Given the description of an element on the screen output the (x, y) to click on. 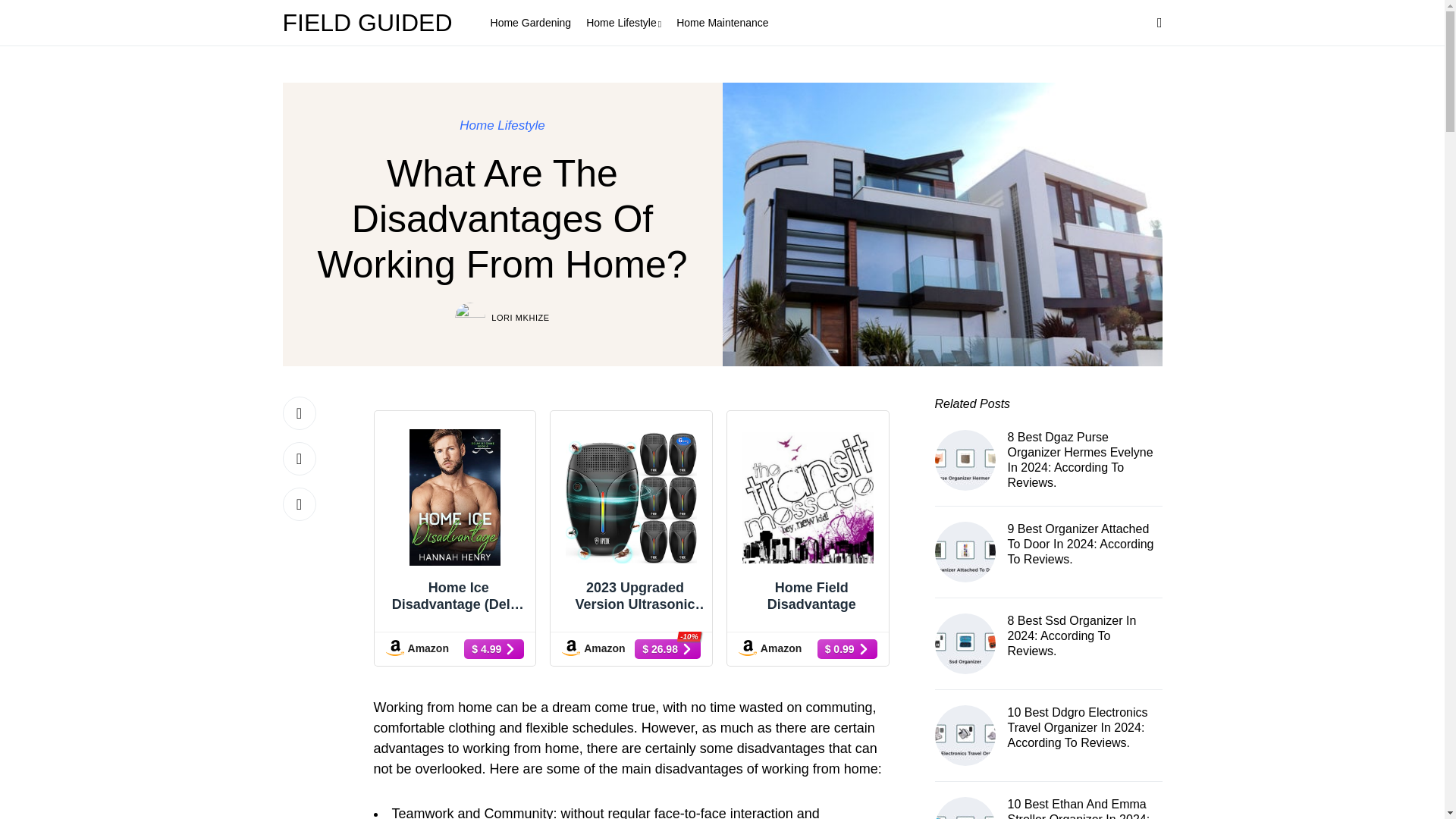
Home Maintenance (722, 22)
Home Lifestyle (623, 22)
Home Gardening (531, 22)
FIELD GUIDED (371, 22)
